Given the description of an element on the screen output the (x, y) to click on. 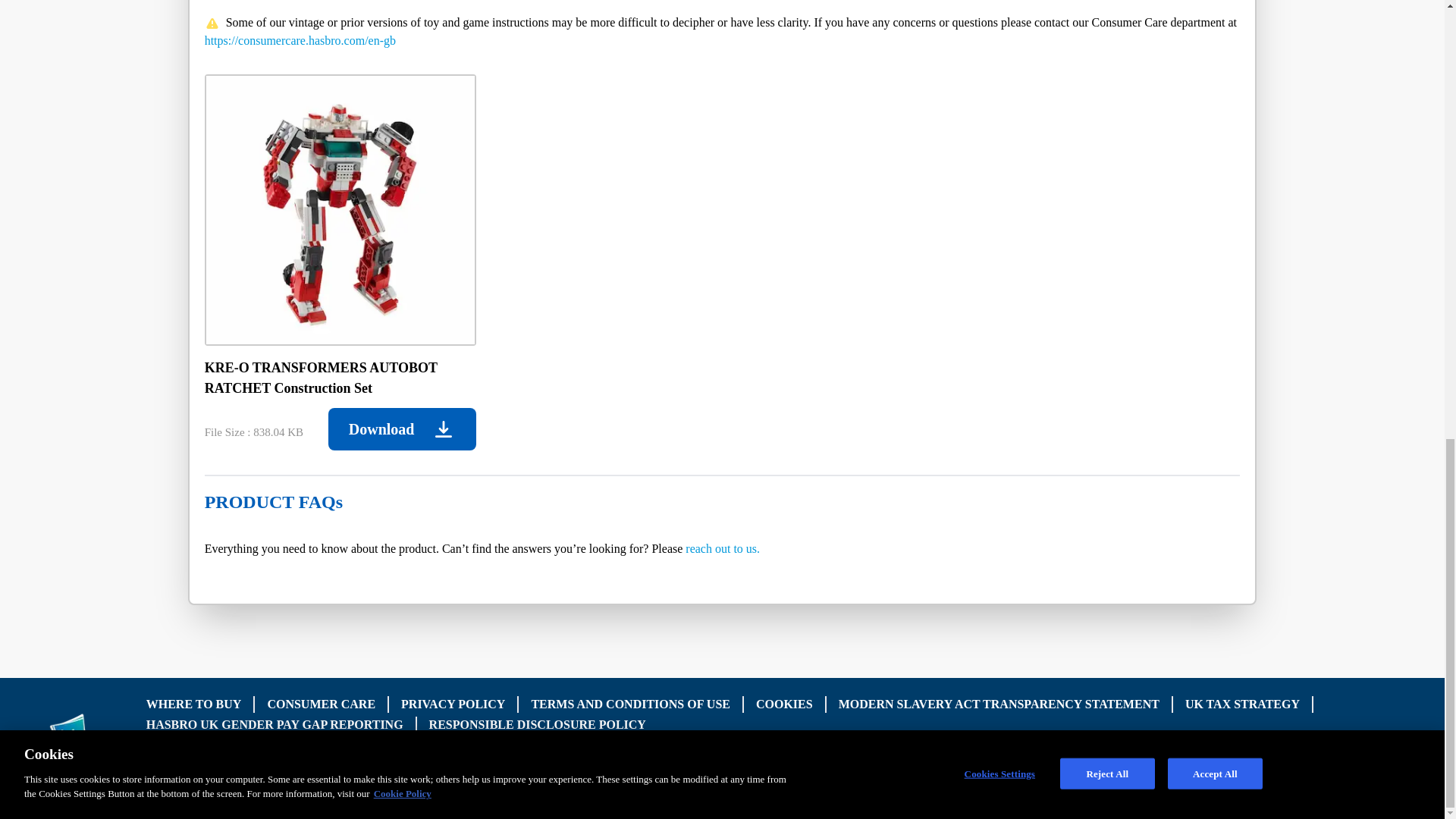
MODERN SLAVERY ACT TRANSPARENCY STATEMENT (998, 703)
RESPONSIBLE DISCLOSURE POLICY (537, 723)
UK TAX STRATEGY (1242, 703)
Download (402, 428)
HASBRO UK GENDER PAY GAP REPORTING (275, 723)
CONSUMER CARE (320, 703)
PRIVACY POLICY (453, 703)
reach out to us. (722, 548)
TERMS AND CONDITIONS OF USE (630, 703)
WHERE TO BUY (194, 703)
COOKIES (783, 703)
